Given the description of an element on the screen output the (x, y) to click on. 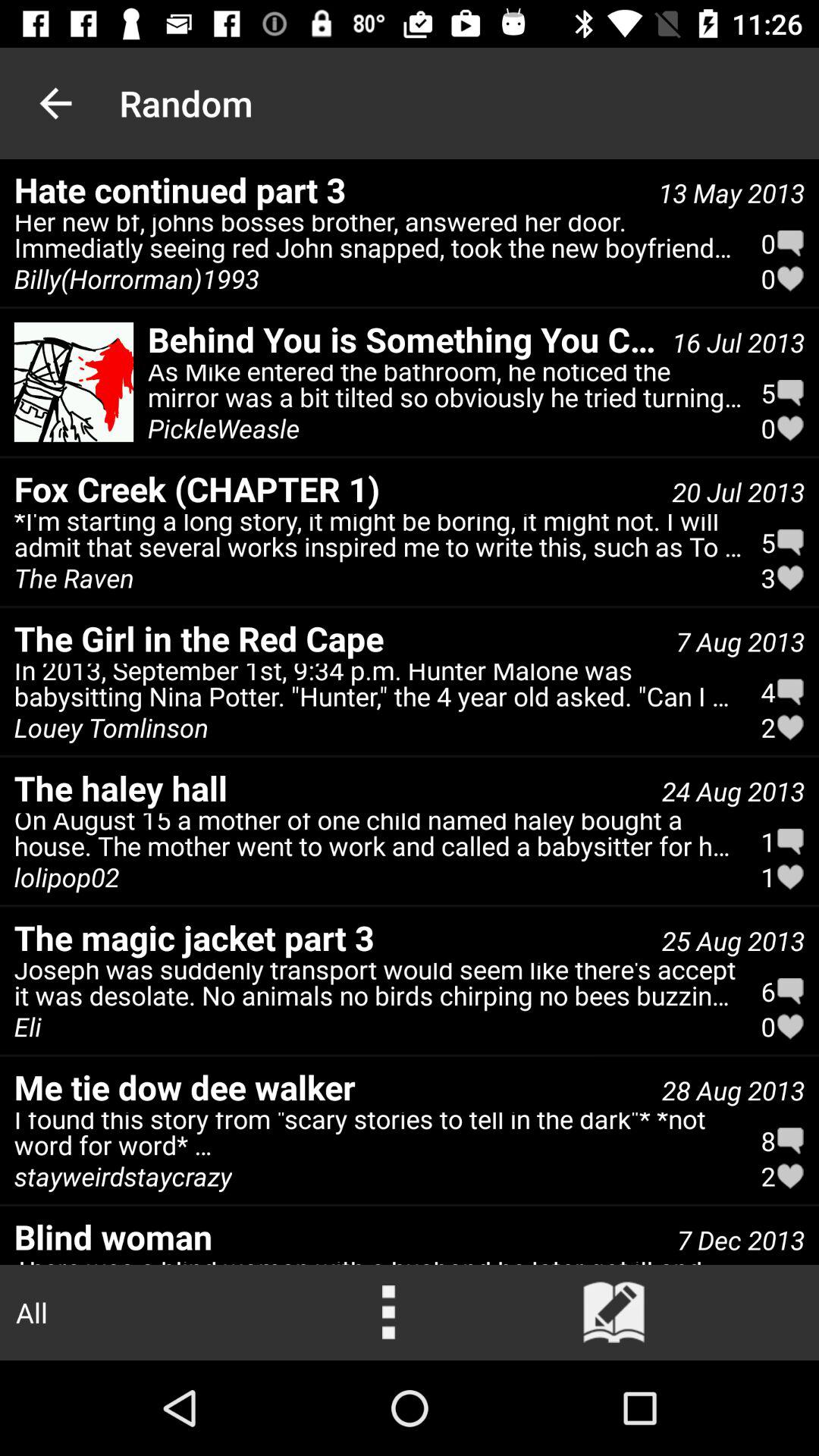
choose the app to the left of random icon (55, 103)
